Given the description of an element on the screen output the (x, y) to click on. 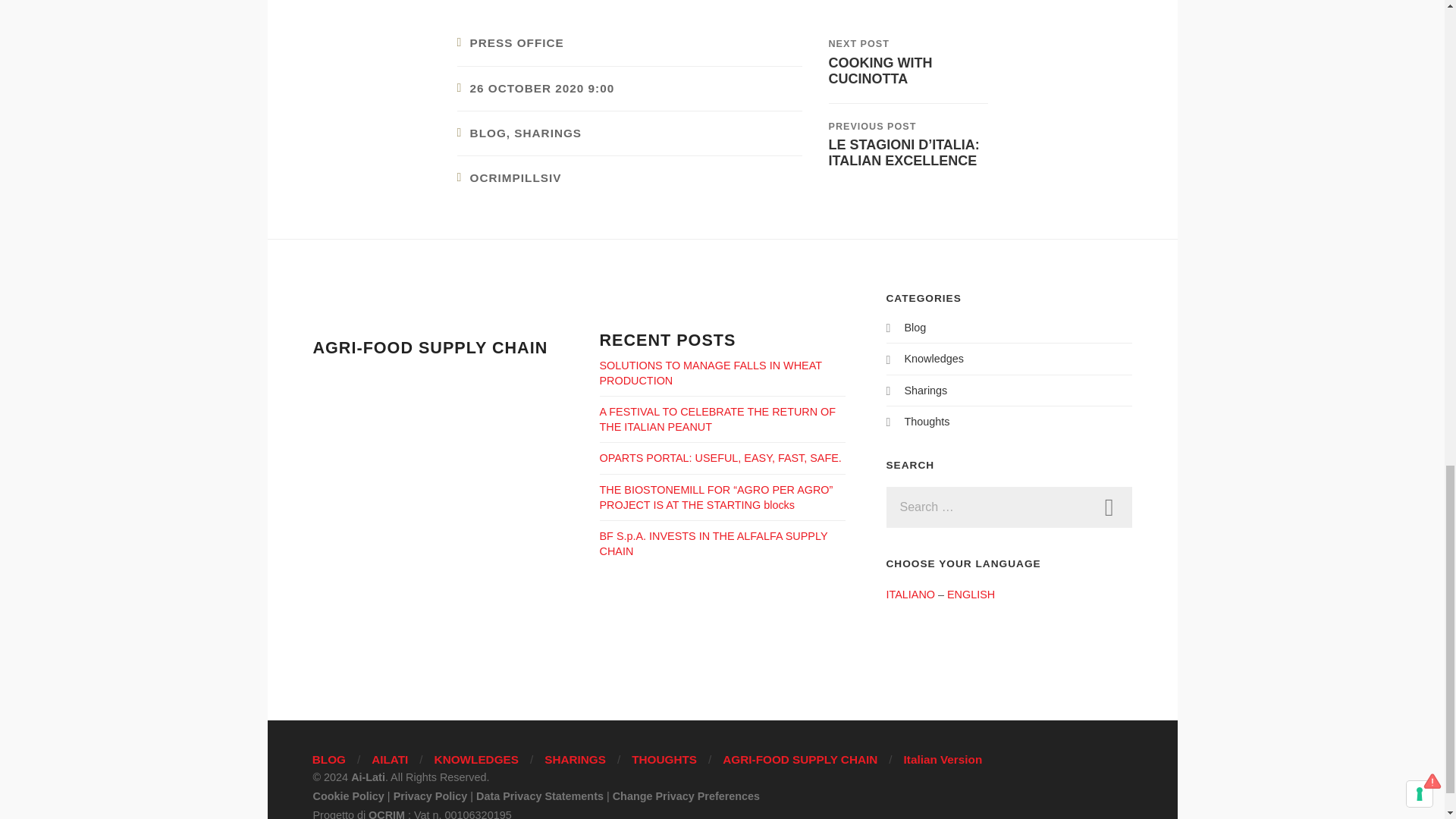
BF S.p.A. INVESTS IN THE ALFALFA SUPPLY CHAIN (712, 543)
A FESTIVAL TO CELEBRATE THE RETURN OF THE ITALIAN PEANUT (716, 419)
OCRIMPILLSIV (516, 177)
26 OCTOBER 2020 9:00 (542, 88)
Search (1108, 506)
Search (1108, 506)
BLOG (488, 132)
Posts by Press Office (517, 42)
SHARINGS (546, 132)
OPARTS PORTAL: USEFUL, EASY, FAST, SAFE. (719, 458)
PRESS OFFICE (517, 42)
SOLUTIONS TO MANAGE FALLS IN WHEAT PRODUCTION (709, 372)
Ai-Lati (907, 61)
